Given the description of an element on the screen output the (x, y) to click on. 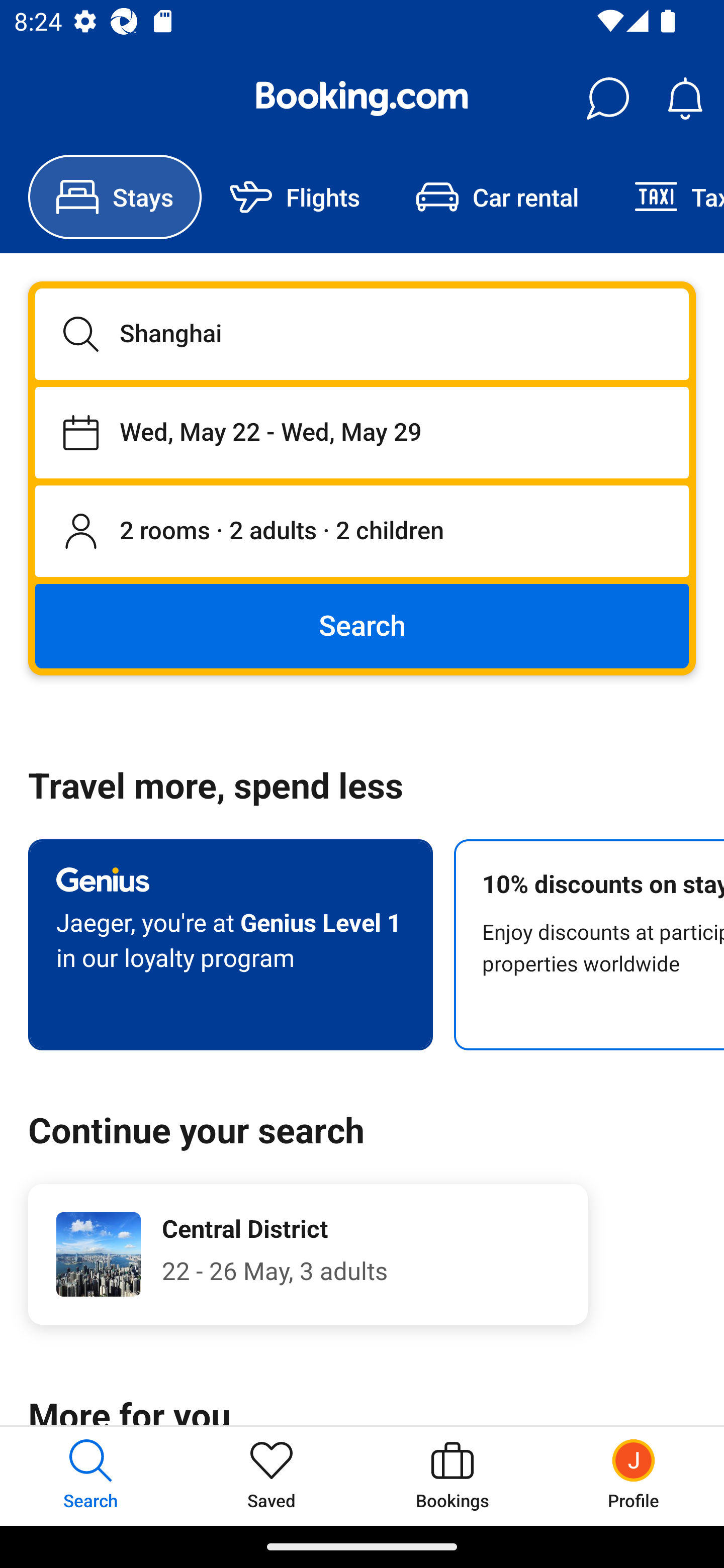
Messages (607, 98)
Notifications (685, 98)
Stays (114, 197)
Flights (294, 197)
Car rental (497, 197)
Taxi (665, 197)
Shanghai (361, 333)
Staying from Wed, May 22 until Wed, May 29 (361, 432)
2 rooms, 2 adults, 2 children (361, 531)
Search (361, 625)
Central District 22 - 26 May, 3 adults (307, 1253)
Saved (271, 1475)
Bookings (452, 1475)
Profile (633, 1475)
